Given the description of an element on the screen output the (x, y) to click on. 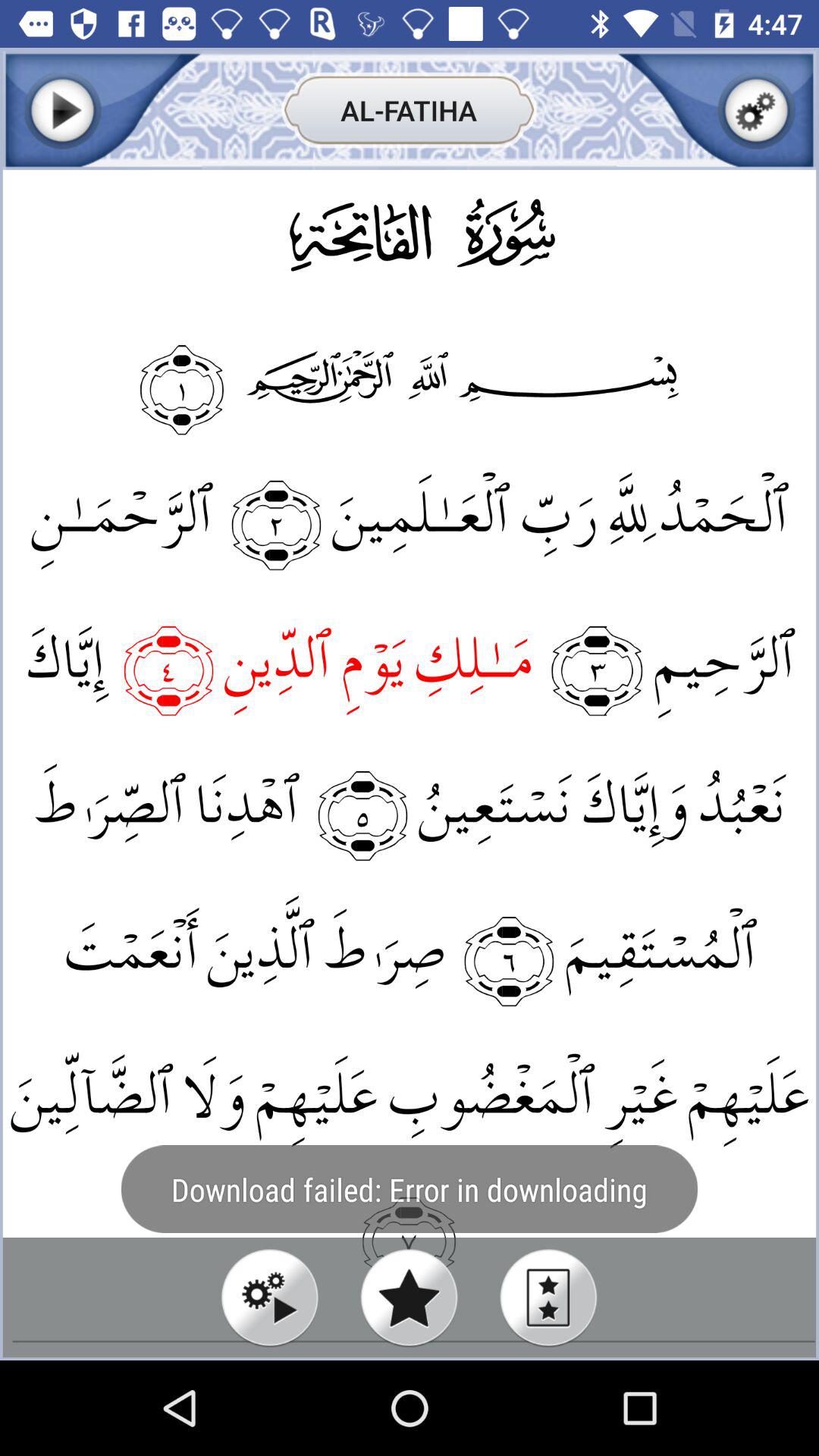
play (269, 1297)
